Given the description of an element on the screen output the (x, y) to click on. 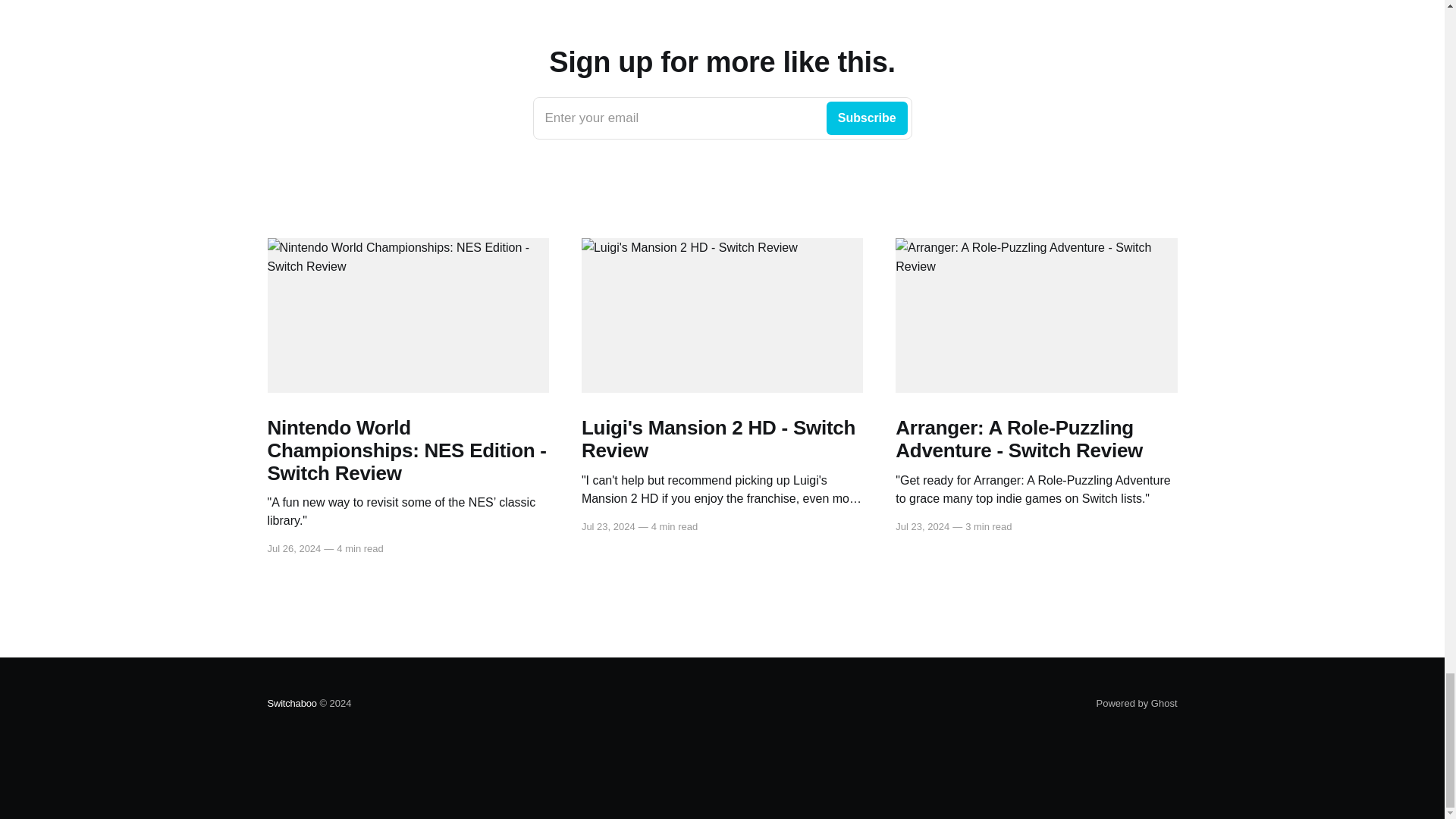
Powered by Ghost (1136, 703)
Switchaboo (290, 703)
